Given the description of an element on the screen output the (x, y) to click on. 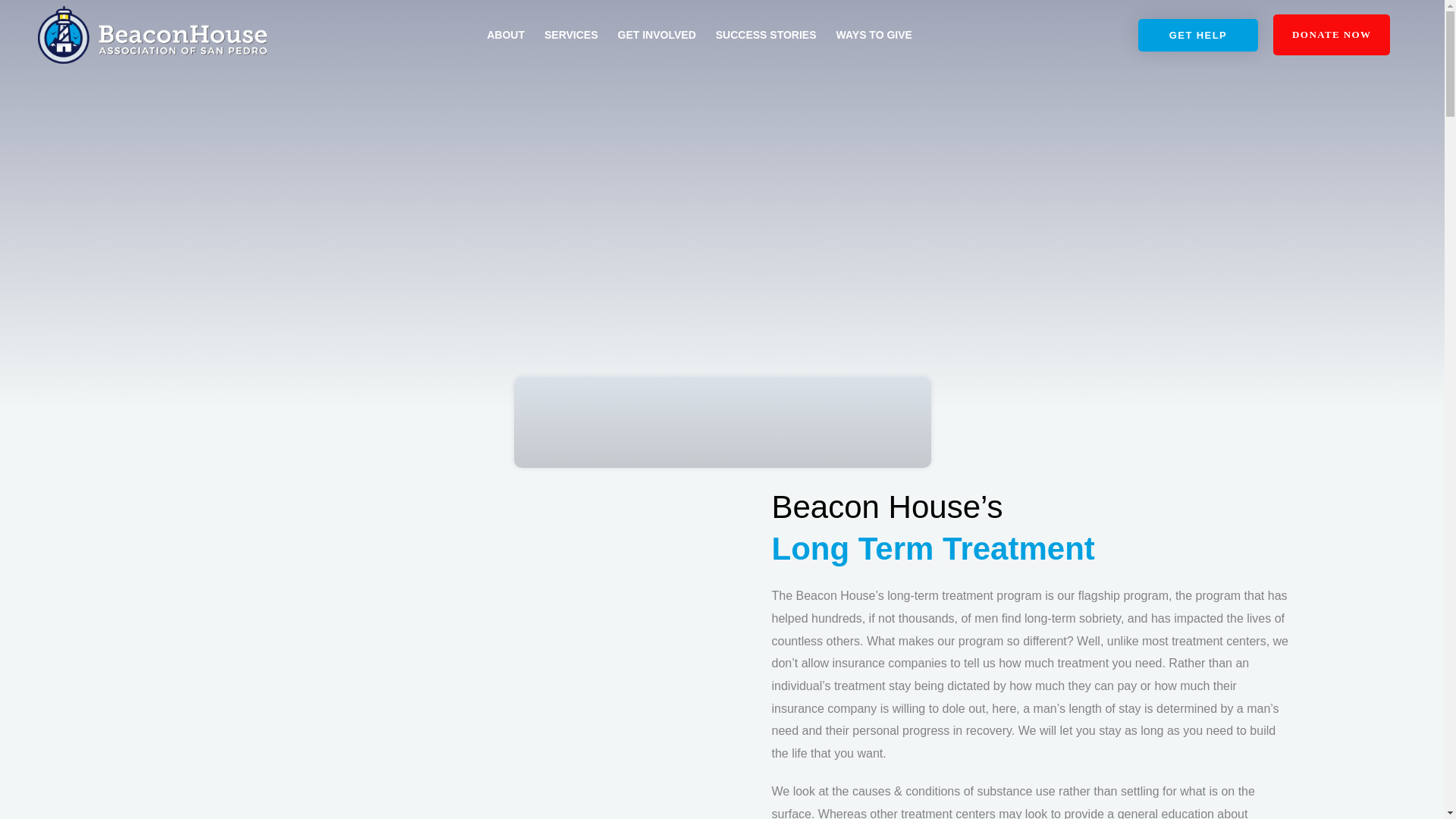
GET INVOLVED (656, 34)
SUCCESS STORIES (765, 34)
WAYS TO GIVE (874, 34)
